Given the description of an element on the screen output the (x, y) to click on. 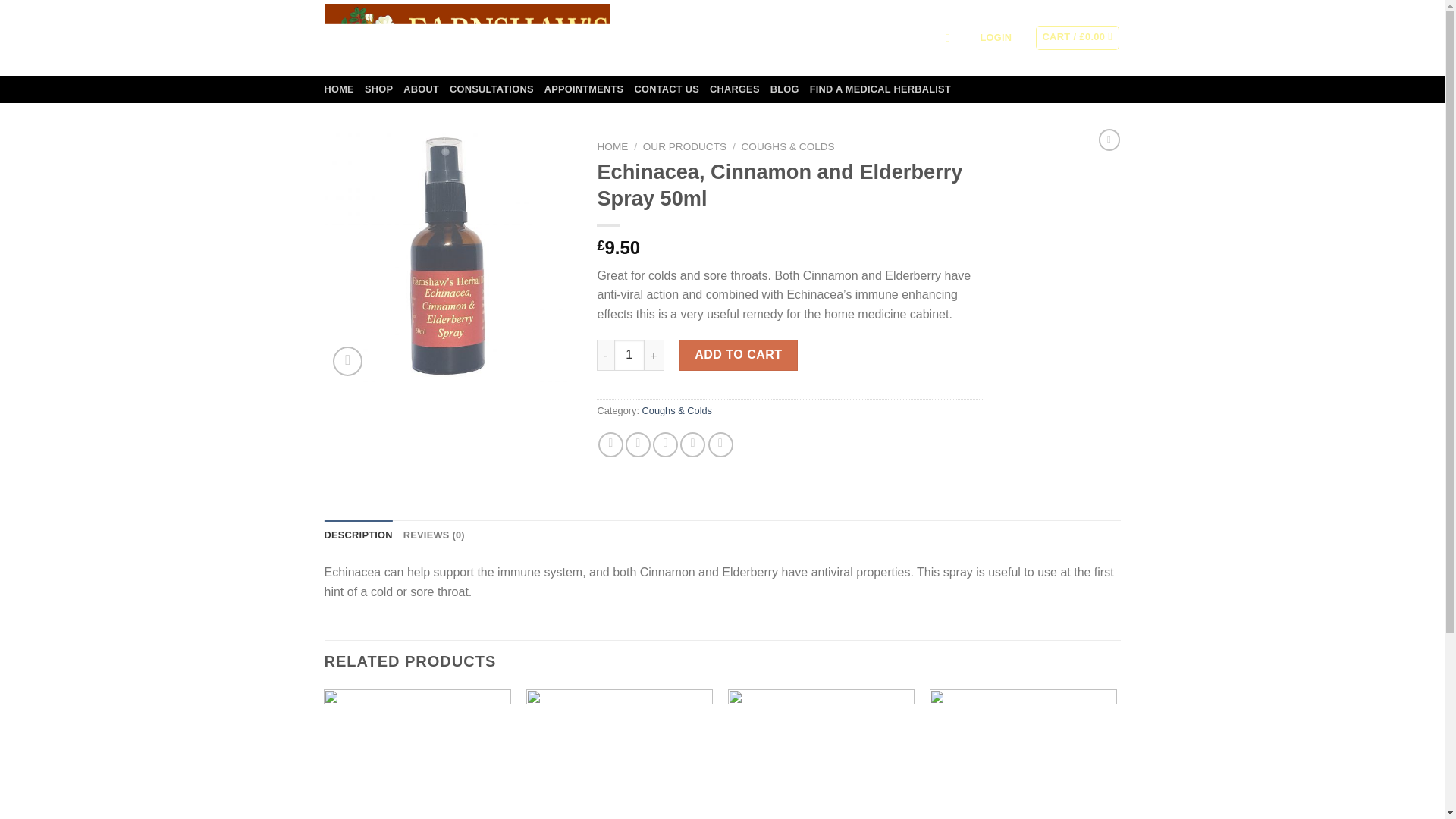
CONTACT US (665, 89)
Qty (629, 354)
ADD TO CART (738, 354)
SHOP (379, 89)
1 (629, 354)
APPOINTMENTS (584, 89)
FIND A MEDICAL HERBALIST (879, 89)
Share on Twitter (638, 444)
OUR PRODUCTS (684, 146)
